Given the description of an element on the screen output the (x, y) to click on. 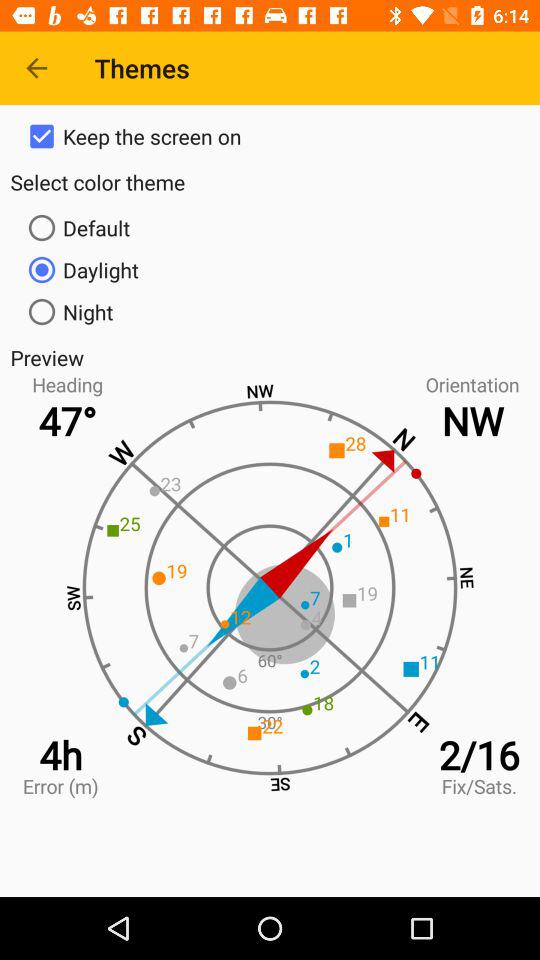
press the item above the select color theme item (270, 136)
